Given the description of an element on the screen output the (x, y) to click on. 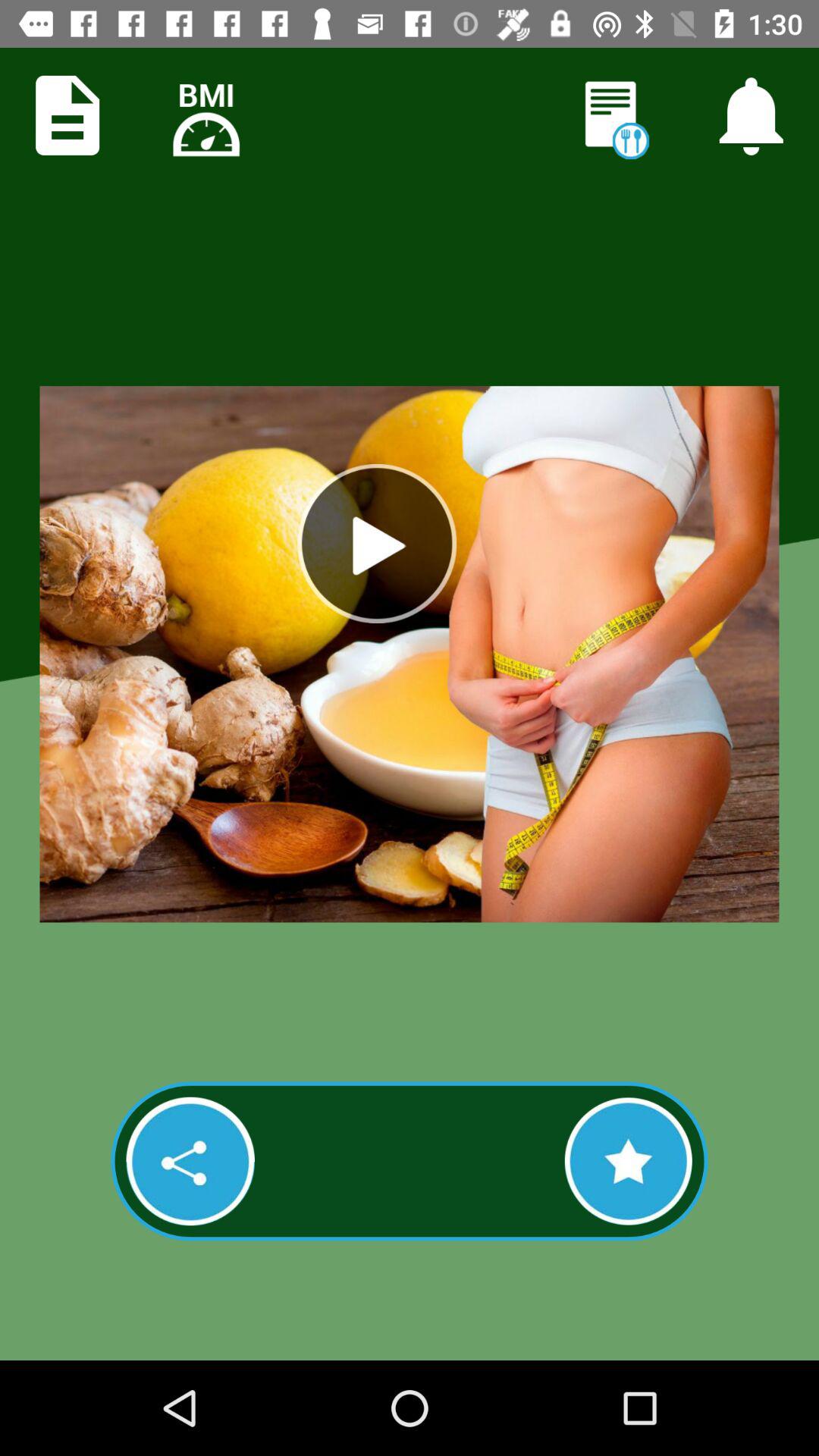
favorite this video (628, 1161)
